Given the description of an element on the screen output the (x, y) to click on. 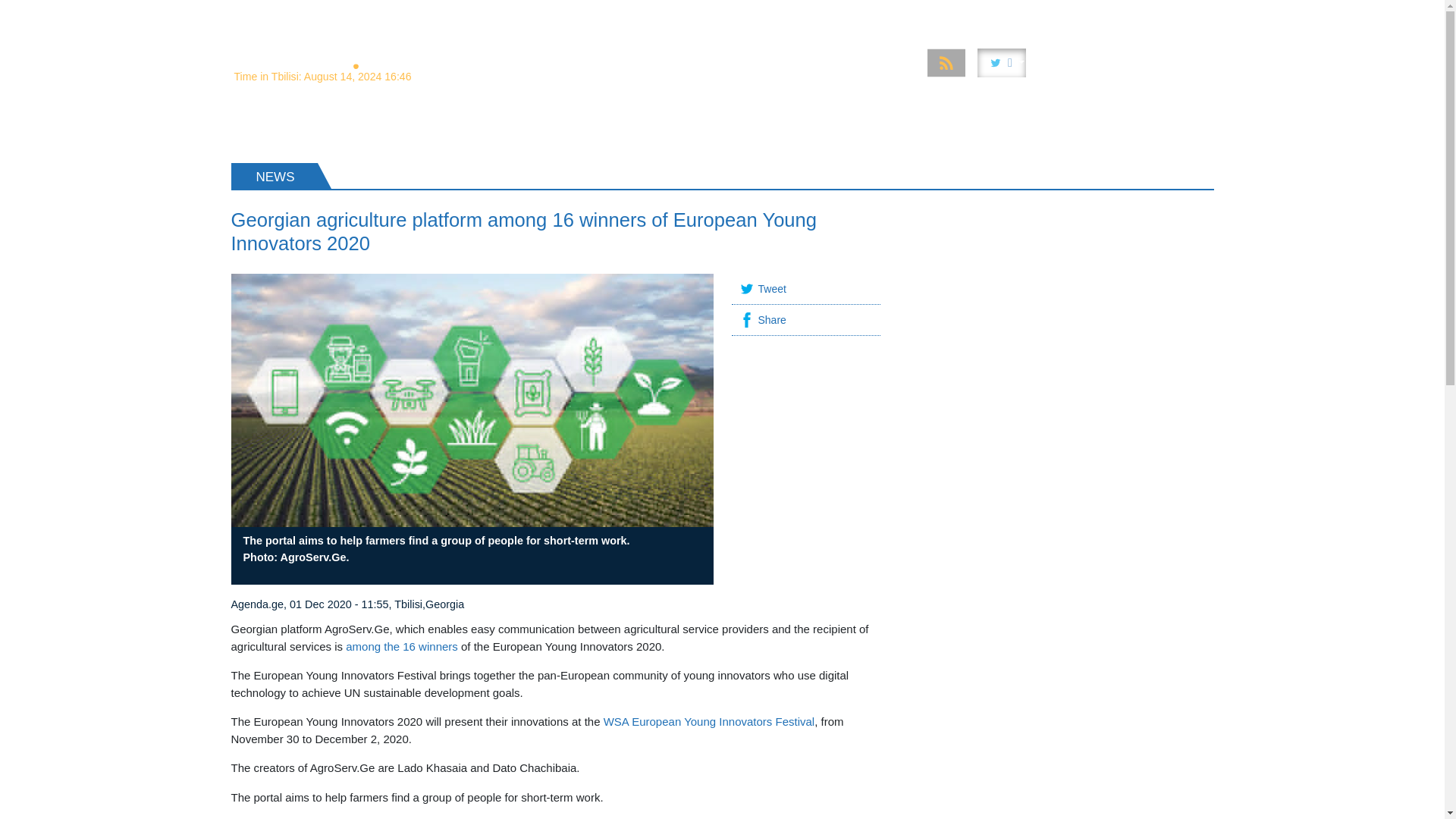
Multimedia (833, 14)
Special Reports (656, 14)
Government (751, 14)
Home (512, 14)
Life (1050, 14)
Blogs (1187, 14)
NEWS (262, 126)
Analysis (571, 14)
Pressscanner (1116, 14)
In Pictures (911, 14)
